Given the description of an element on the screen output the (x, y) to click on. 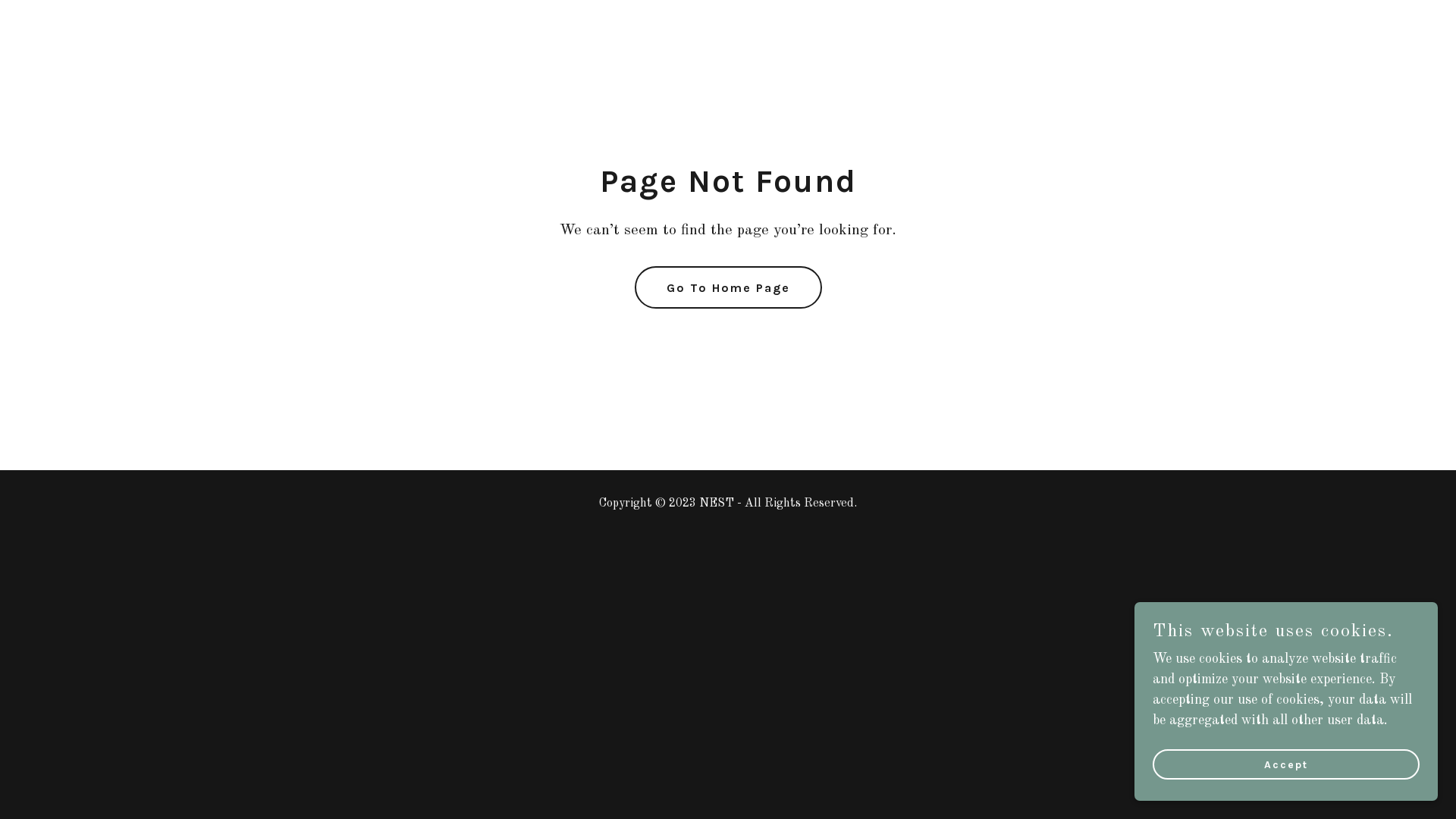
Accept Element type: text (1285, 764)
Go To Home Page Element type: text (727, 287)
